Given the description of an element on the screen output the (x, y) to click on. 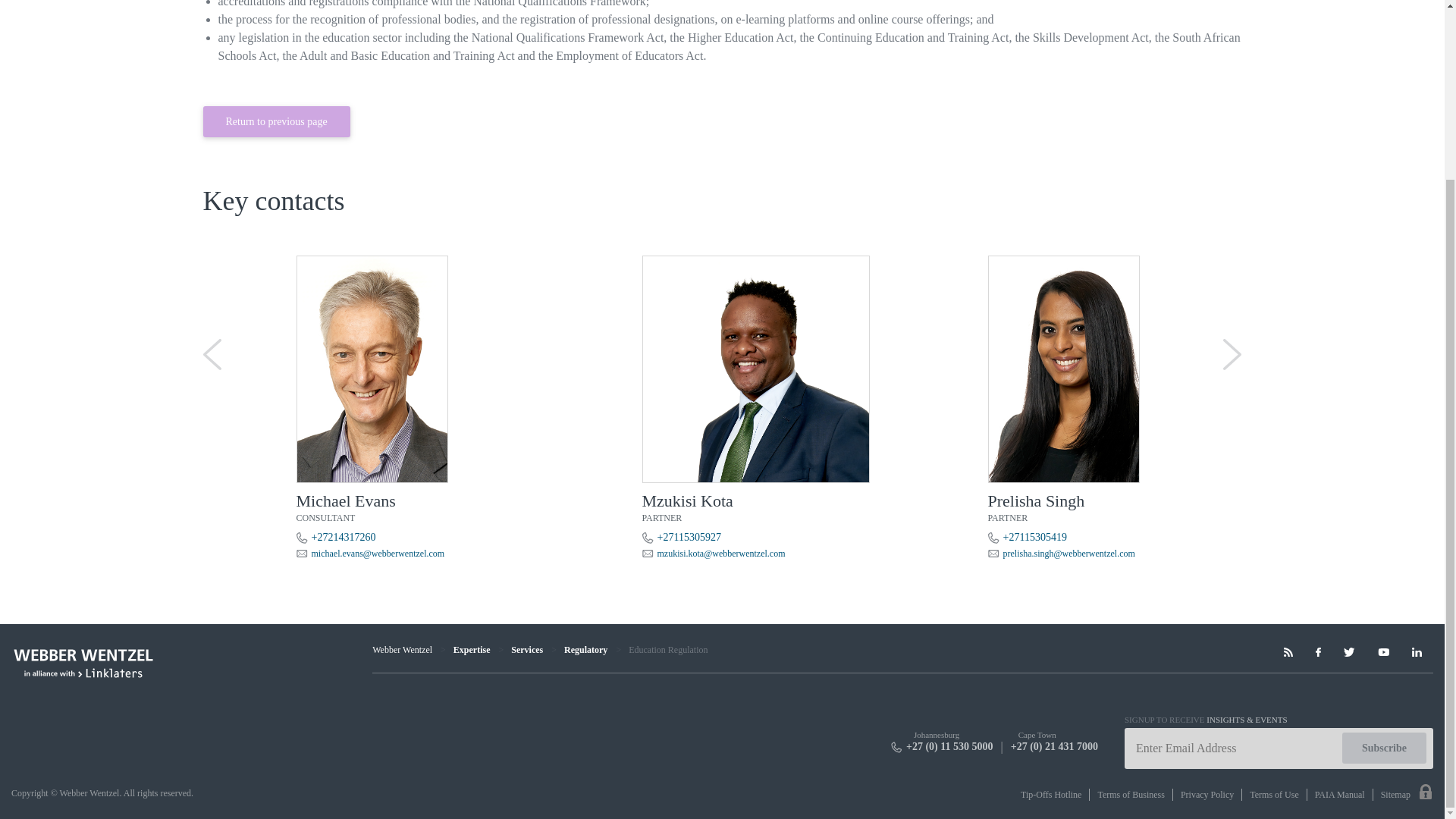
Home (402, 649)
Key contacts (722, 179)
Expertise (471, 649)
